Given the description of an element on the screen output the (x, y) to click on. 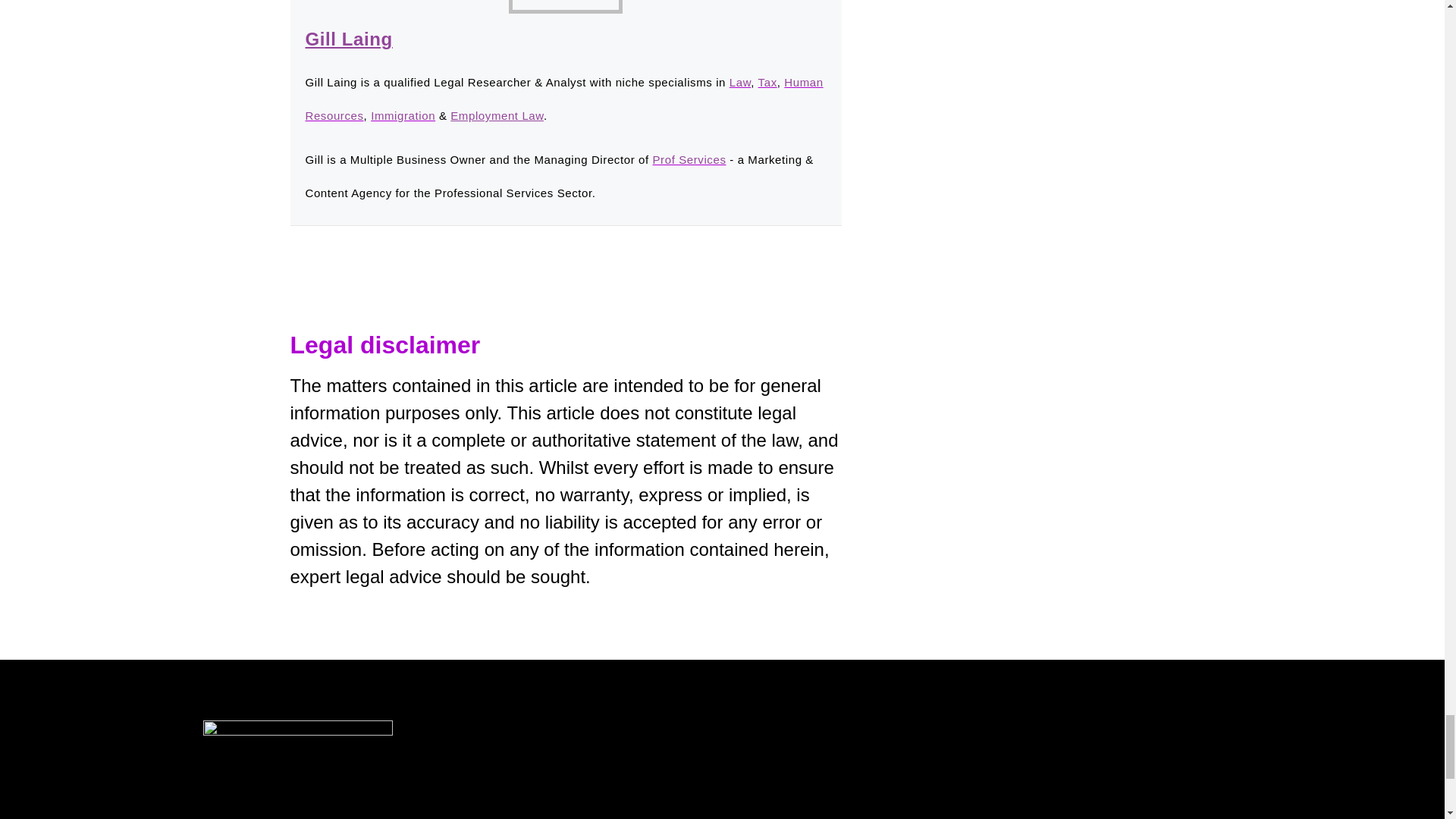
Talent Exit (844, 815)
Human Resources (563, 99)
Recruiting Talent (284, 815)
Law (740, 82)
Talent Management (671, 815)
Talent Retention (471, 815)
Immigration (403, 115)
Prof Services (688, 159)
Gill Laing (347, 38)
Employment Law (496, 115)
